Given the description of an element on the screen output the (x, y) to click on. 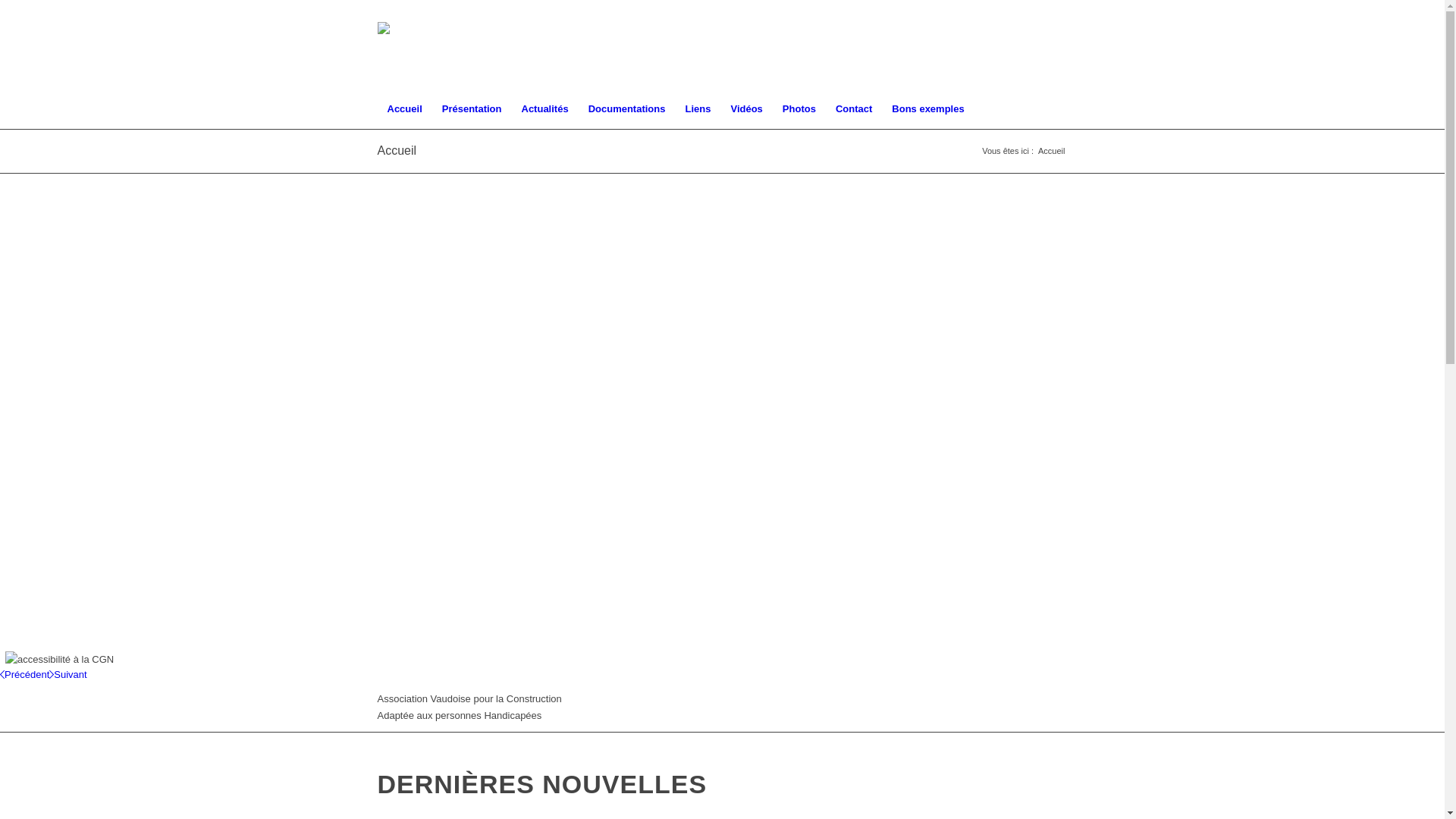
Documentations Element type: text (626, 109)
Accueil Element type: text (397, 150)
Accueil Element type: text (404, 109)
Bons exemples Element type: text (927, 109)
Photos Element type: text (798, 109)
Contact Element type: text (853, 109)
Liens Element type: text (697, 109)
Suivant Element type: text (67, 674)
